Given the description of an element on the screen output the (x, y) to click on. 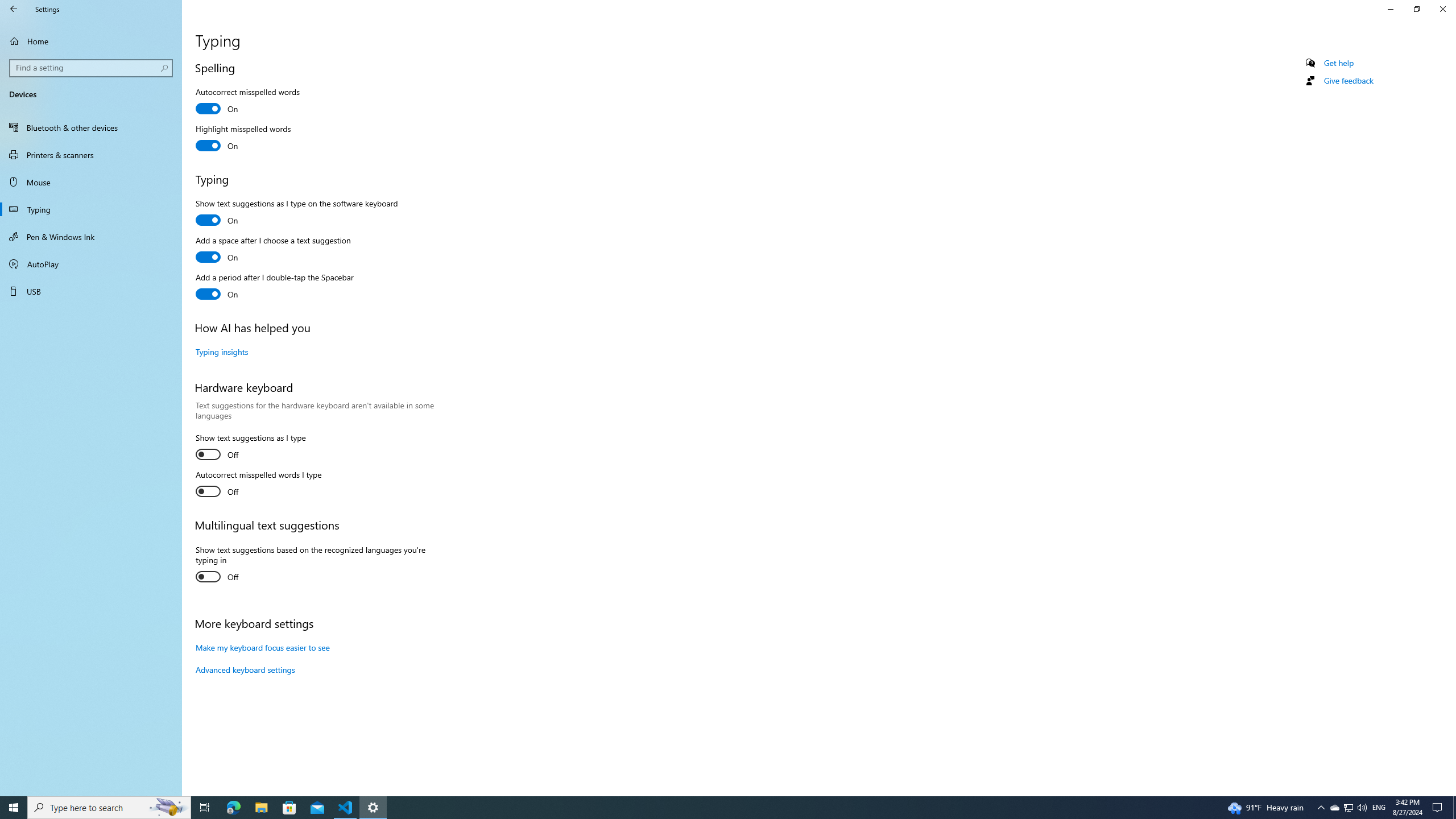
Autocorrect misspelled words I type (258, 484)
Give feedback (1348, 80)
Pen & Windows Ink (91, 236)
Add a period after I double-tap the Spacebar (274, 287)
Show text suggestions as I type (250, 447)
Printers & scanners (91, 154)
Get help (1338, 62)
Settings - 1 running window (373, 807)
Make my keyboard focus easier to see (262, 647)
